Given the description of an element on the screen output the (x, y) to click on. 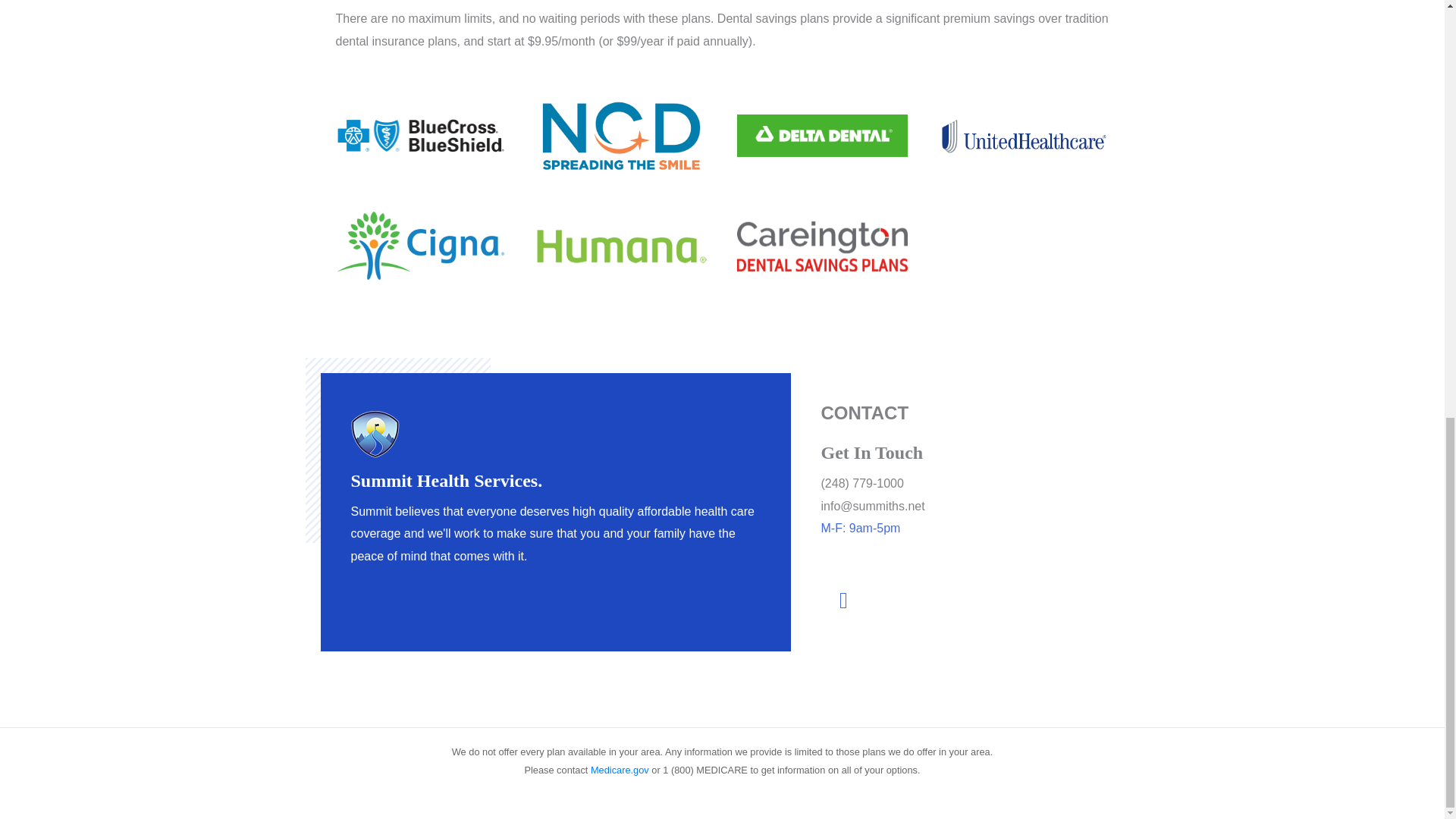
Facebook (843, 600)
logosmall (374, 434)
